Given the description of an element on the screen output the (x, y) to click on. 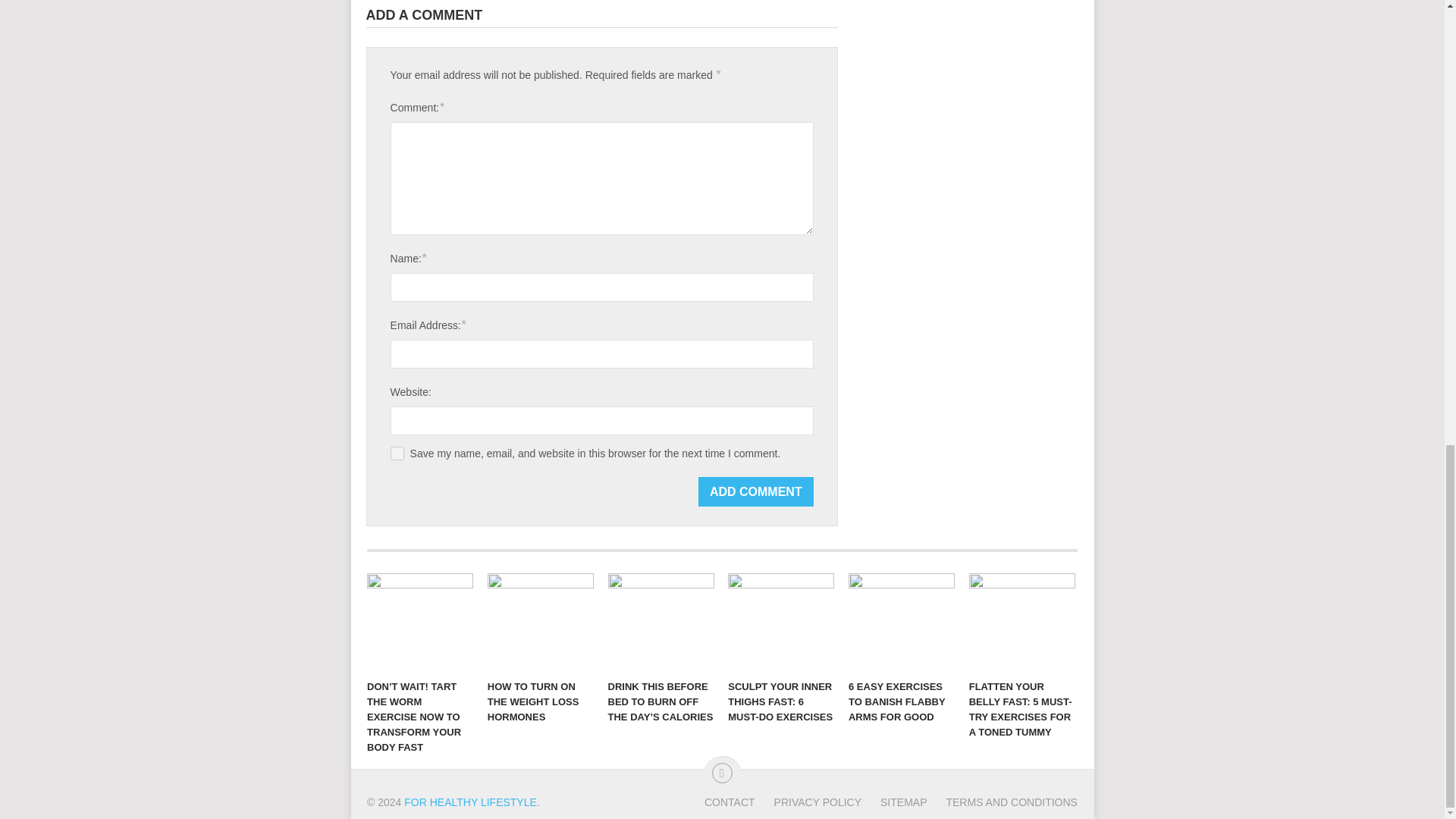
Sculpt Your Inner Thighs Fast: 6 Must-Do Exercises (781, 622)
TERMS AND CONDITIONS (1001, 802)
SITEMAP (893, 802)
CONTACT (729, 802)
SCULPT YOUR INNER THIGHS FAST: 6 MUST-DO EXERCISES (781, 622)
6 EASY EXERCISES TO BANISH FLABBY ARMS FOR GOOD (901, 622)
6 Easy Exercises to Banish Flabby Arms for Good (901, 622)
FOR HEALTHY LIFESTYLE (470, 802)
PRIVACY POLICY (808, 802)
